Given the description of an element on the screen output the (x, y) to click on. 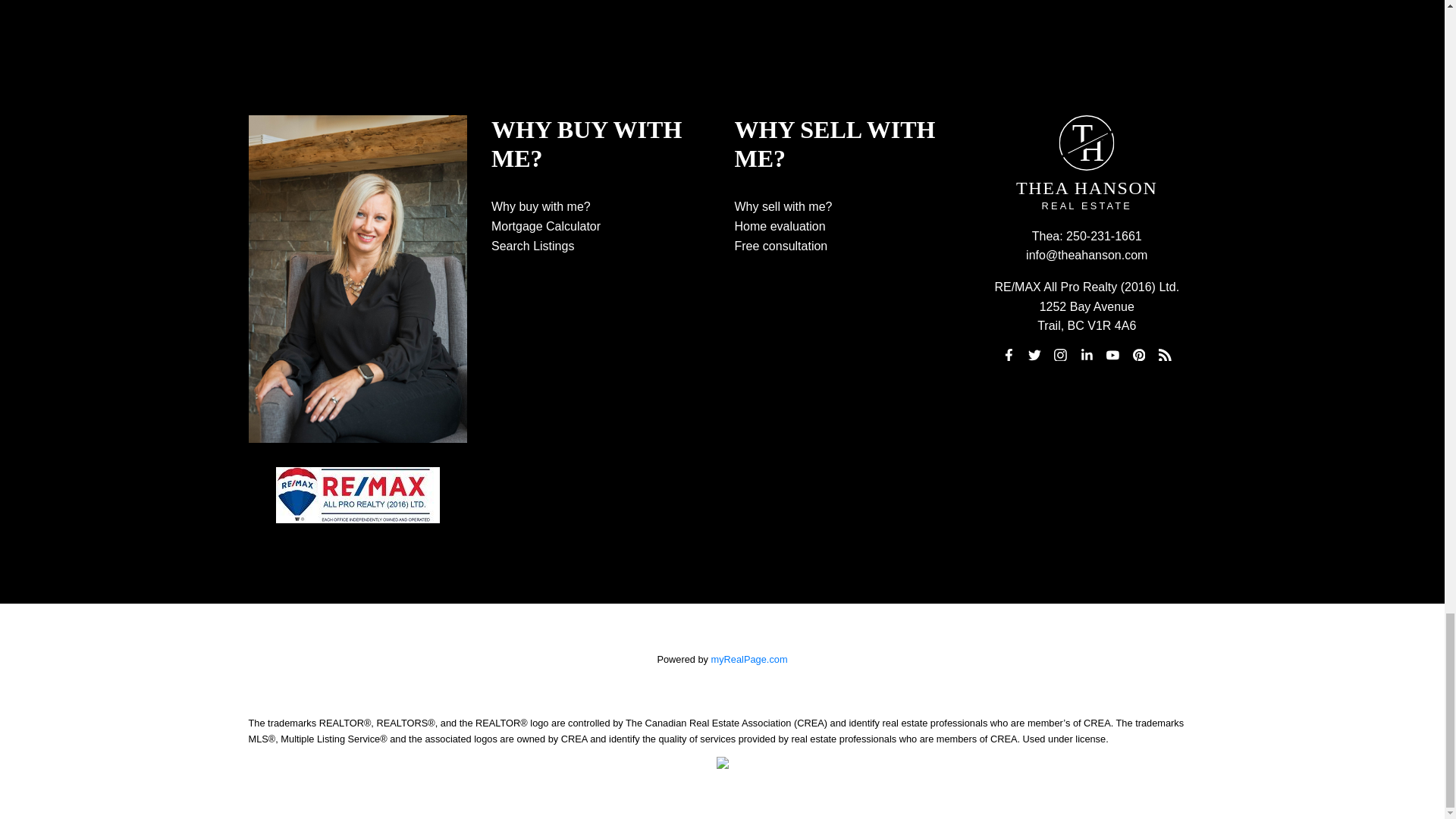
Blog (1164, 354)
linkedin (1086, 354)
instagram (1060, 354)
Pinterest (1139, 354)
Facebook (1008, 354)
YouTube (1113, 354)
Twitter (1034, 354)
